Given the description of an element on the screen output the (x, y) to click on. 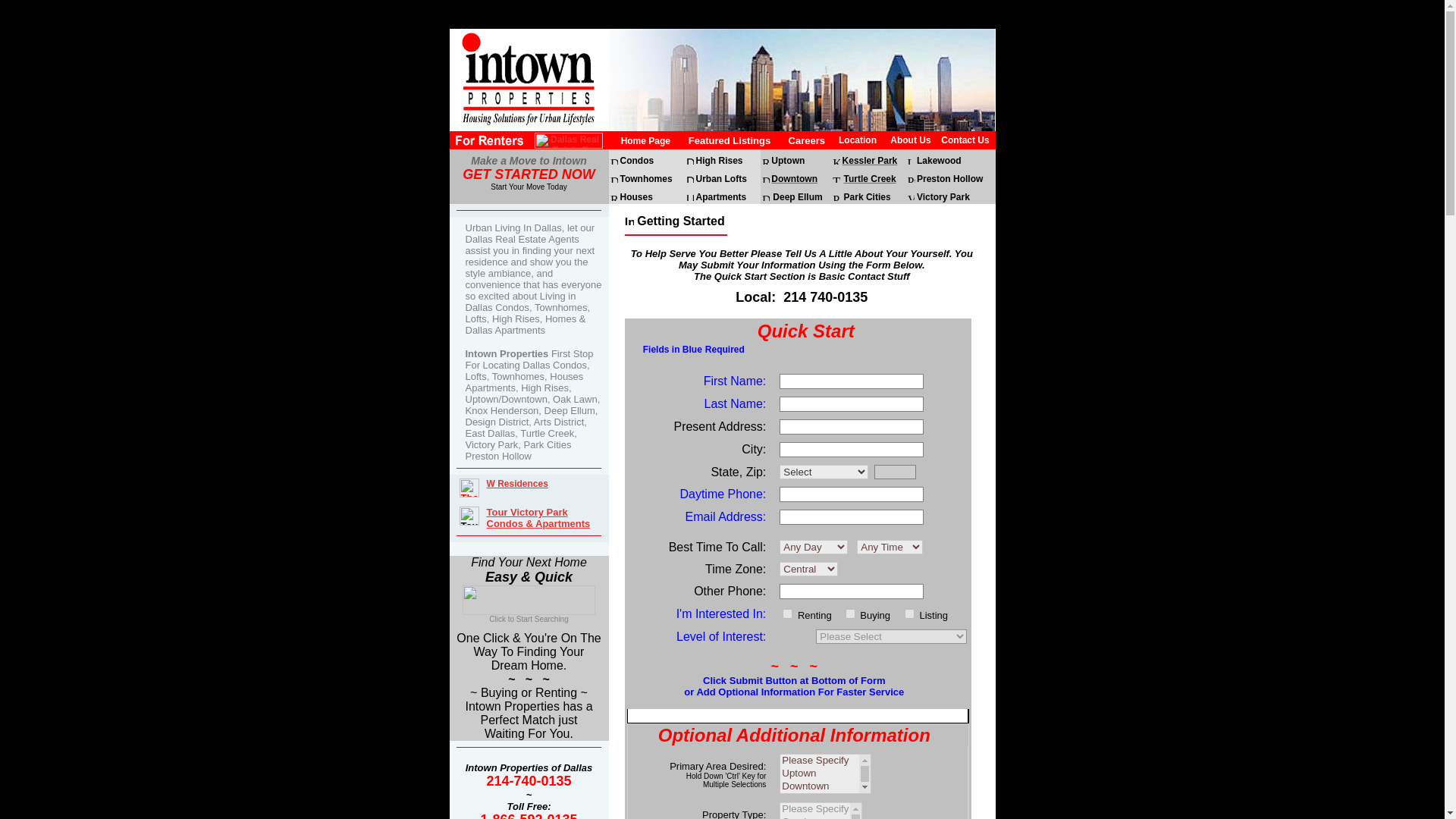
Apartments (720, 195)
Downtown (793, 177)
Deep Ellum (797, 195)
Home Page (645, 140)
GET STARTED NOW (528, 175)
Houses (636, 195)
Selling (909, 614)
Contact Us (964, 140)
Buying (850, 614)
About Us (909, 140)
Urban Lofts (720, 177)
Kessler Park (870, 159)
Location (857, 140)
Uptown (788, 159)
